Given the description of an element on the screen output the (x, y) to click on. 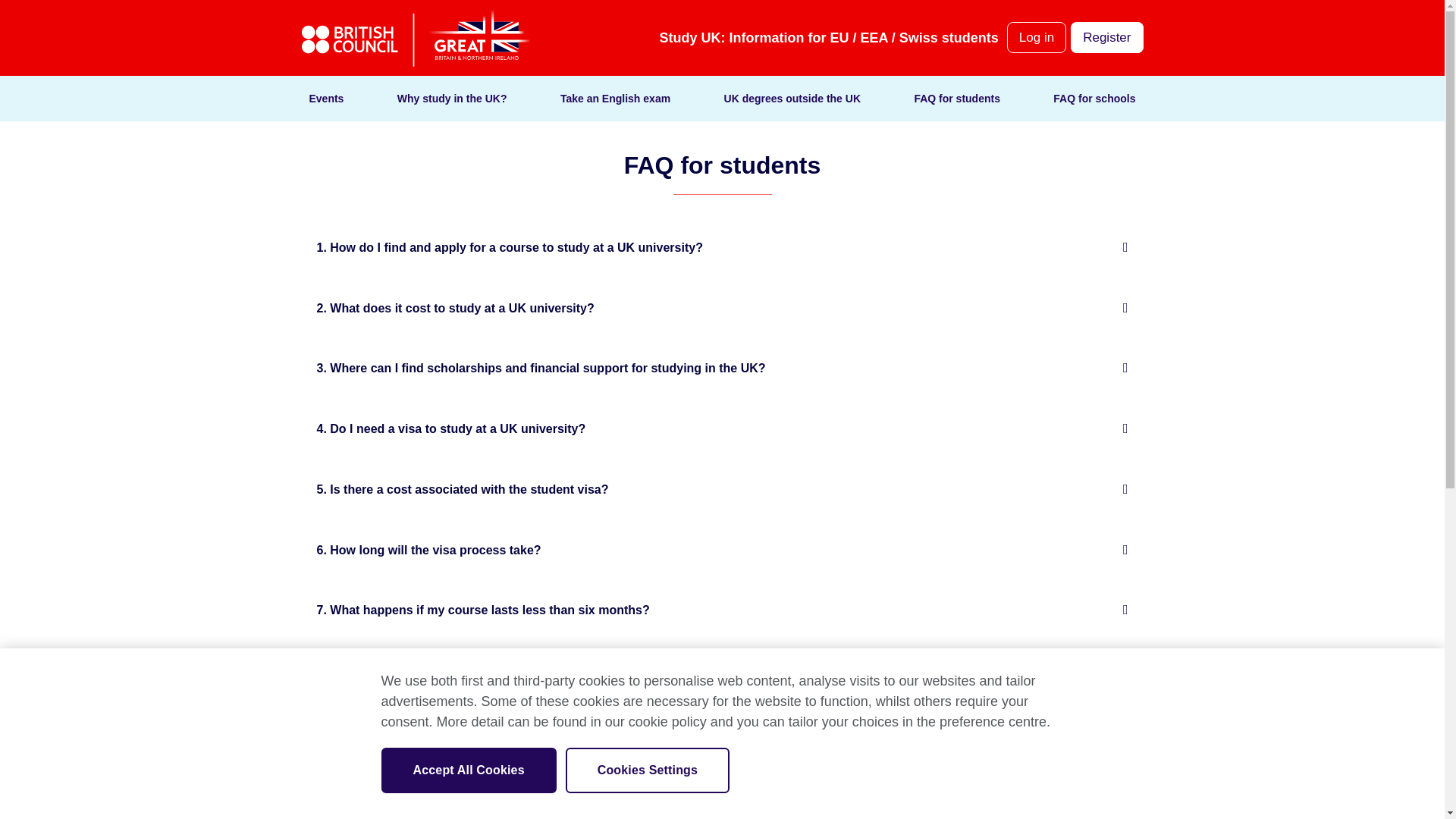
Log in (1036, 37)
UK degrees outside the UK (791, 98)
FAQ for schools (1093, 98)
Events (325, 98)
Why study in the UK? (451, 98)
FAQ for students (957, 98)
Take an English exam (614, 98)
Register (1106, 37)
